Given the description of an element on the screen output the (x, y) to click on. 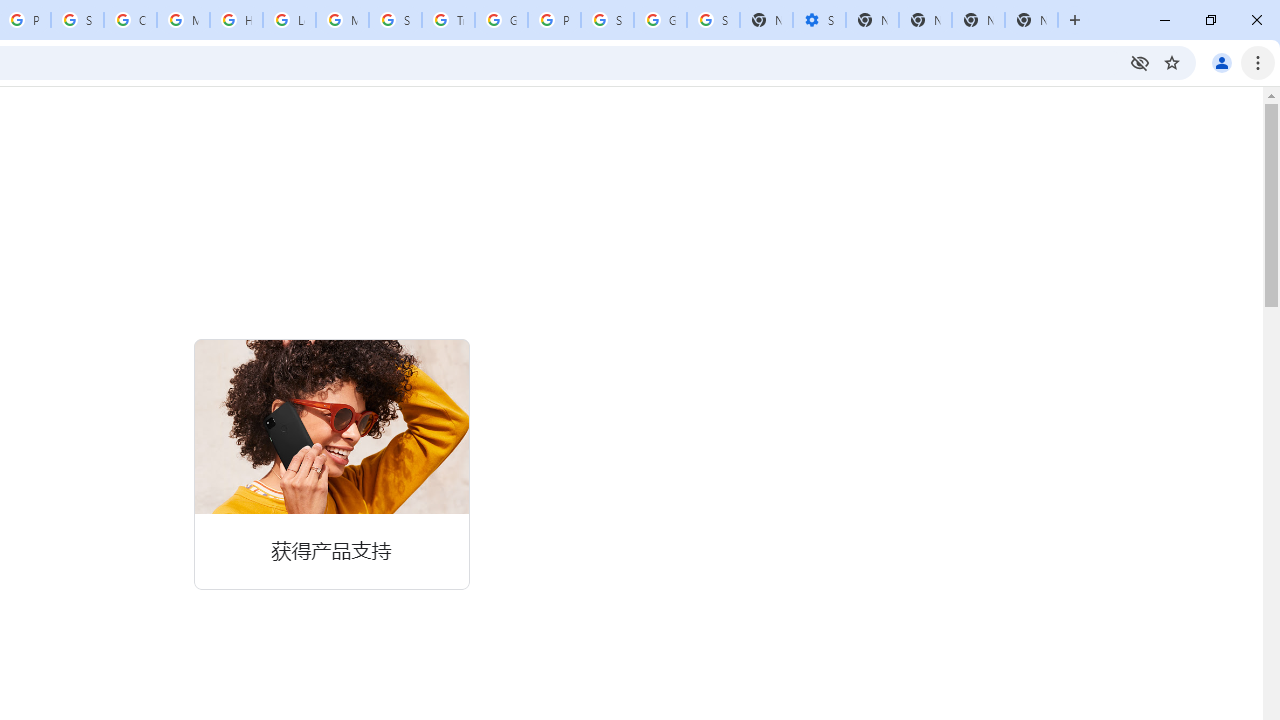
Google Ads - Sign in (501, 20)
Sign in - Google Accounts (713, 20)
Google Cybersecurity Innovations - Google Safety Center (660, 20)
Trusted Information and Content - Google Safety Center (448, 20)
